Given the description of an element on the screen output the (x, y) to click on. 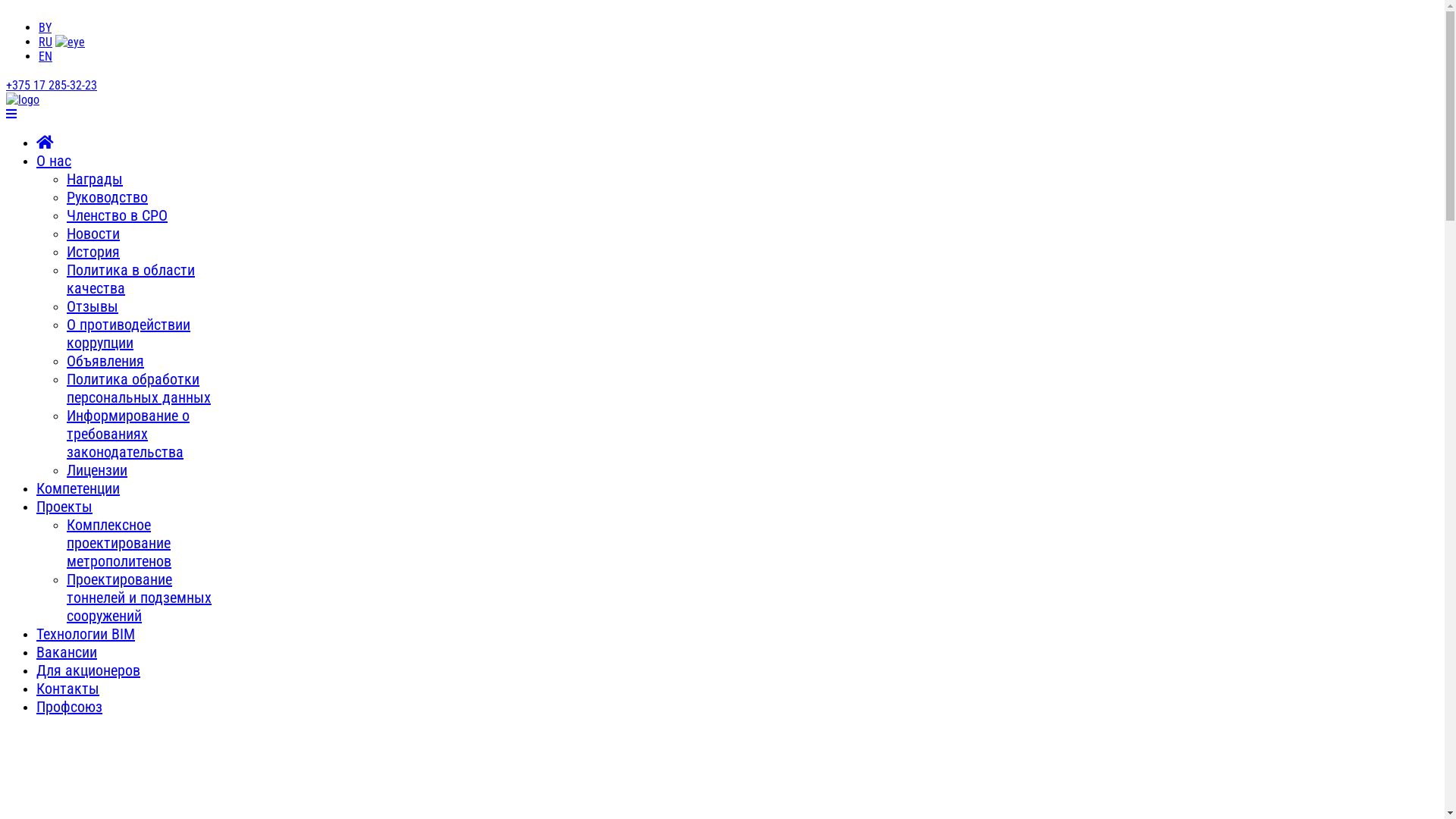
Navigation Element type: hover (11, 113)
EN Element type: text (45, 56)
+375 17 285-32-23 Element type: text (51, 85)
BY Element type: text (44, 27)
RU Element type: text (45, 41)
